Given the description of an element on the screen output the (x, y) to click on. 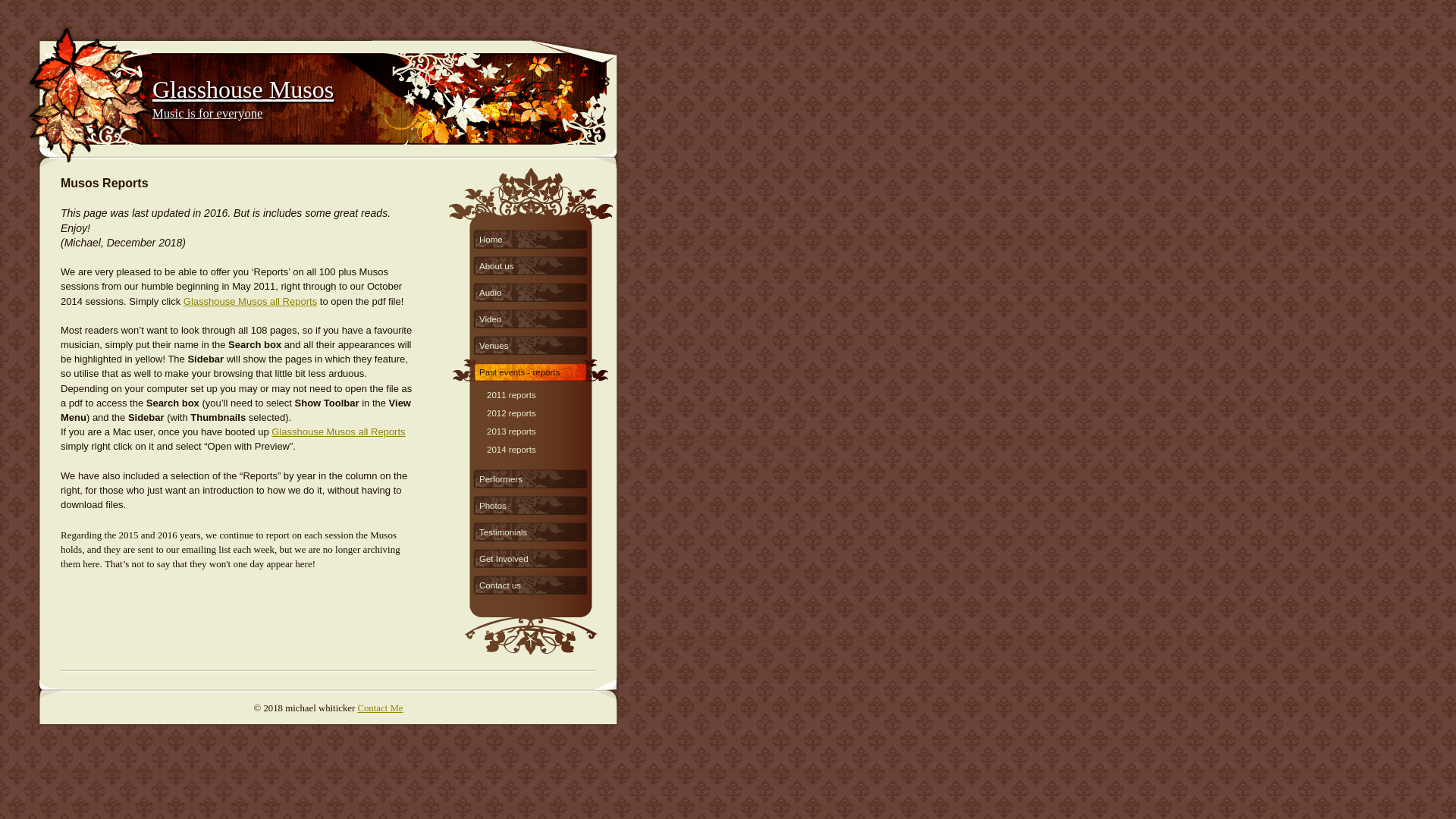
2014 reports Element type: text (537, 443)
Performers Element type: text (530, 476)
About us Element type: text (530, 263)
Testimonials Element type: text (530, 529)
Glasshouse Musos all Reports Element type: text (249, 301)
Video Element type: text (530, 316)
Contact us Element type: text (530, 582)
Glasshouse Musos all Reports Element type: text (337, 431)
Get Involved Element type: text (530, 556)
Home Element type: text (530, 236)
2011 reports Element type: text (537, 388)
2013 reports Element type: text (537, 424)
Audio Element type: text (530, 290)
Contact Me Element type: text (379, 707)
2012 reports Element type: text (537, 406)
Venues Element type: text (530, 343)
Past events - reports Element type: text (530, 369)
Photos Element type: text (530, 503)
